Given the description of an element on the screen output the (x, y) to click on. 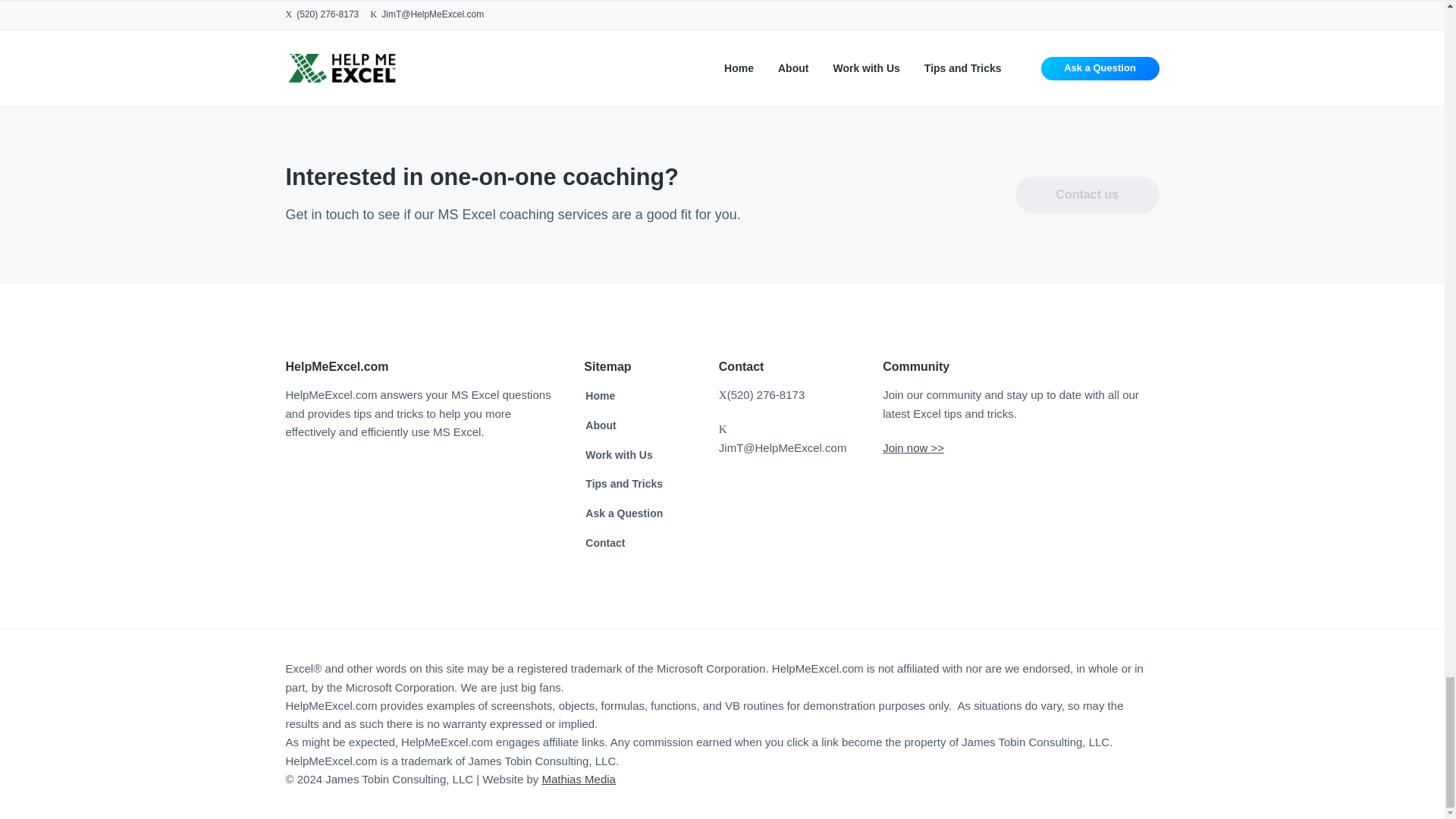
Ask a Question (623, 513)
Mathias Media (578, 779)
Work with Us (618, 455)
Post Comment (559, 7)
Home (599, 395)
Tips and Tricks (623, 484)
Contact us (1086, 194)
About (600, 425)
Contact (604, 543)
Post Comment (559, 7)
